Given the description of an element on the screen output the (x, y) to click on. 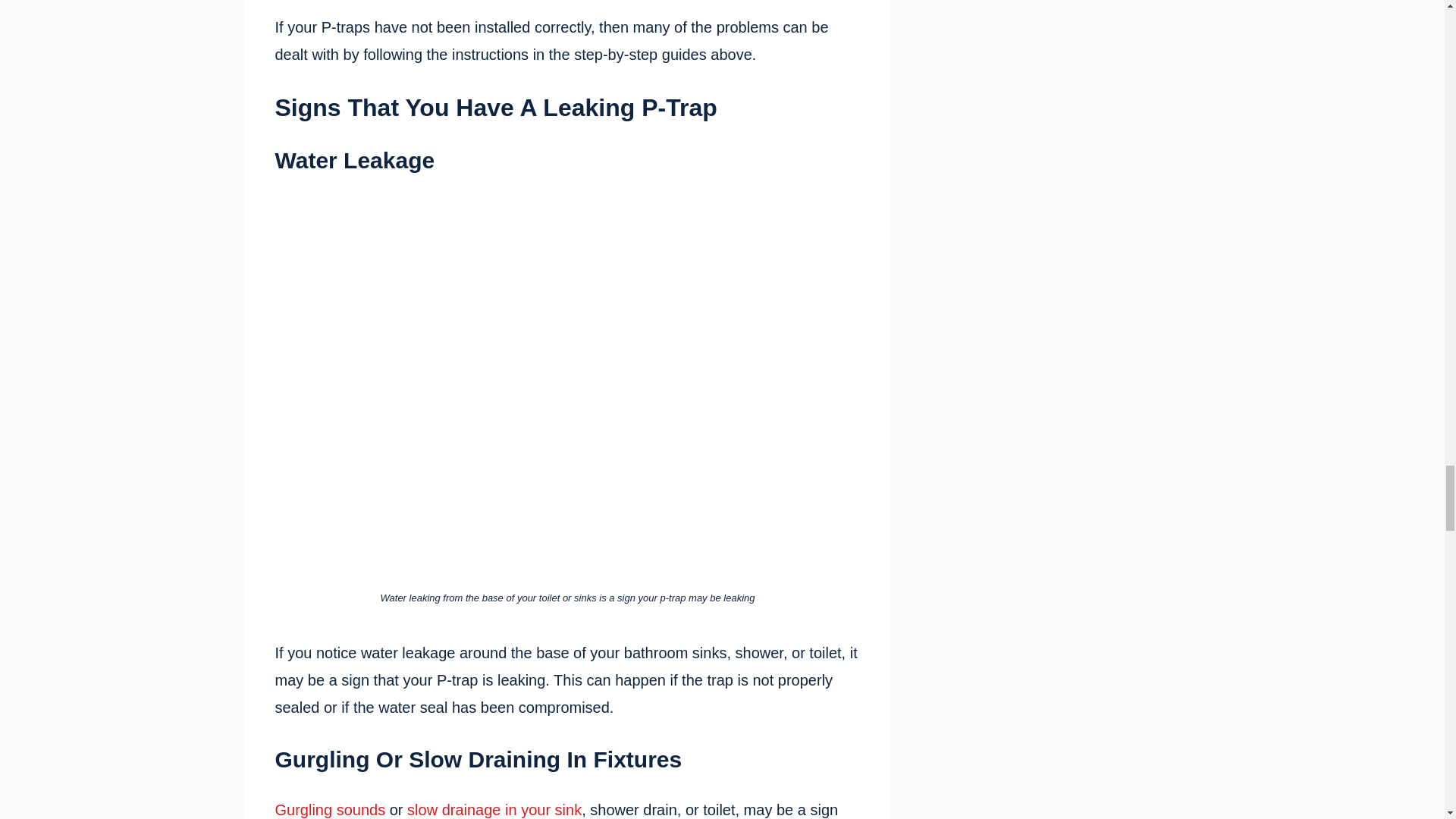
slow drainage in your sink (493, 809)
Gurgling sounds (330, 809)
